Given the description of an element on the screen output the (x, y) to click on. 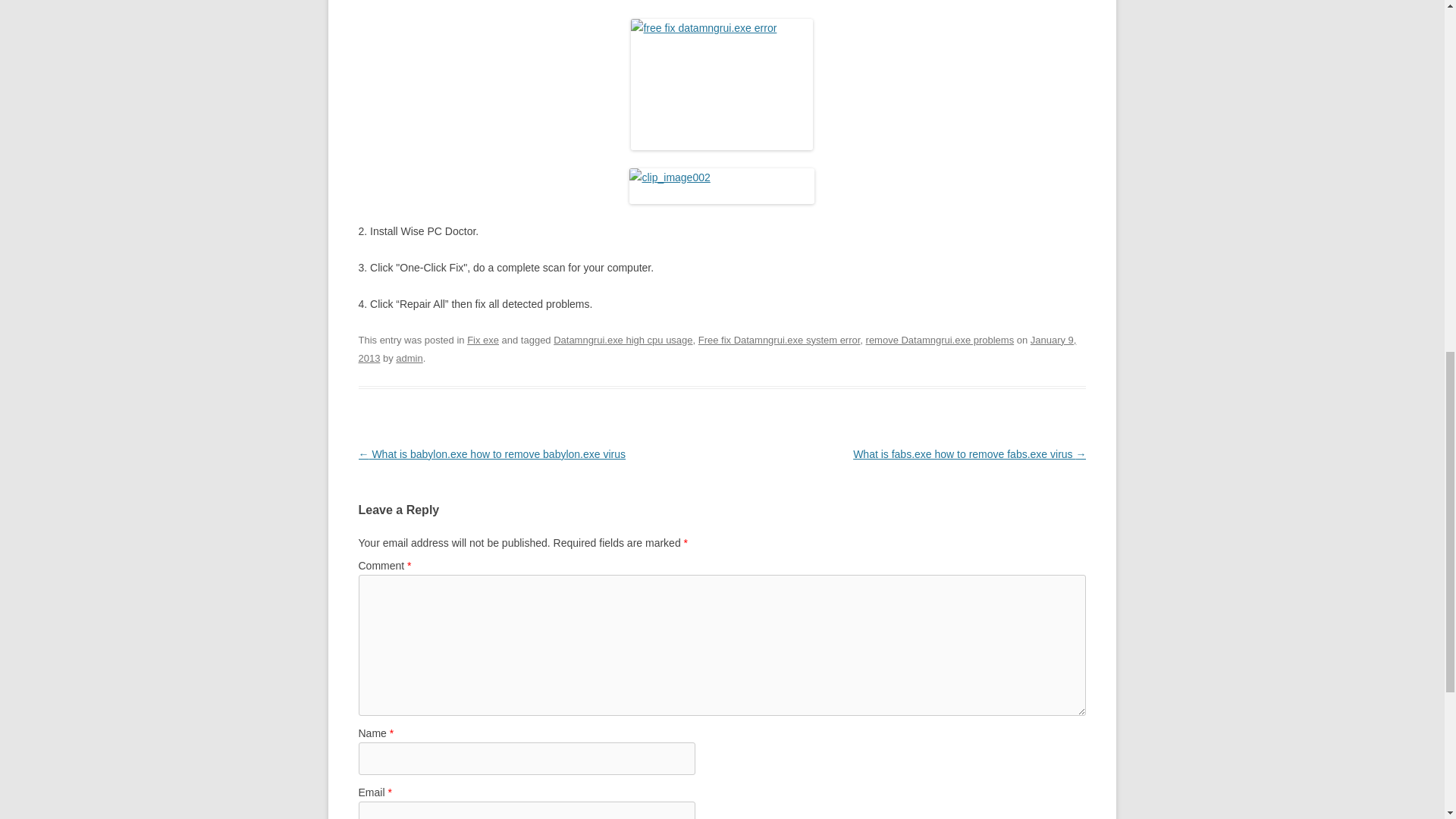
Datamngrui.exe high cpu usage (623, 339)
January 9, 2013 (716, 348)
3:11 am (716, 348)
free fix datamngrui.exe  error (721, 83)
remove Datamngrui.exe problems (940, 339)
Free fix Datamngrui.exe system error (779, 339)
Fix exe (483, 339)
admin (409, 357)
View all posts by admin (409, 357)
